Given the description of an element on the screen output the (x, y) to click on. 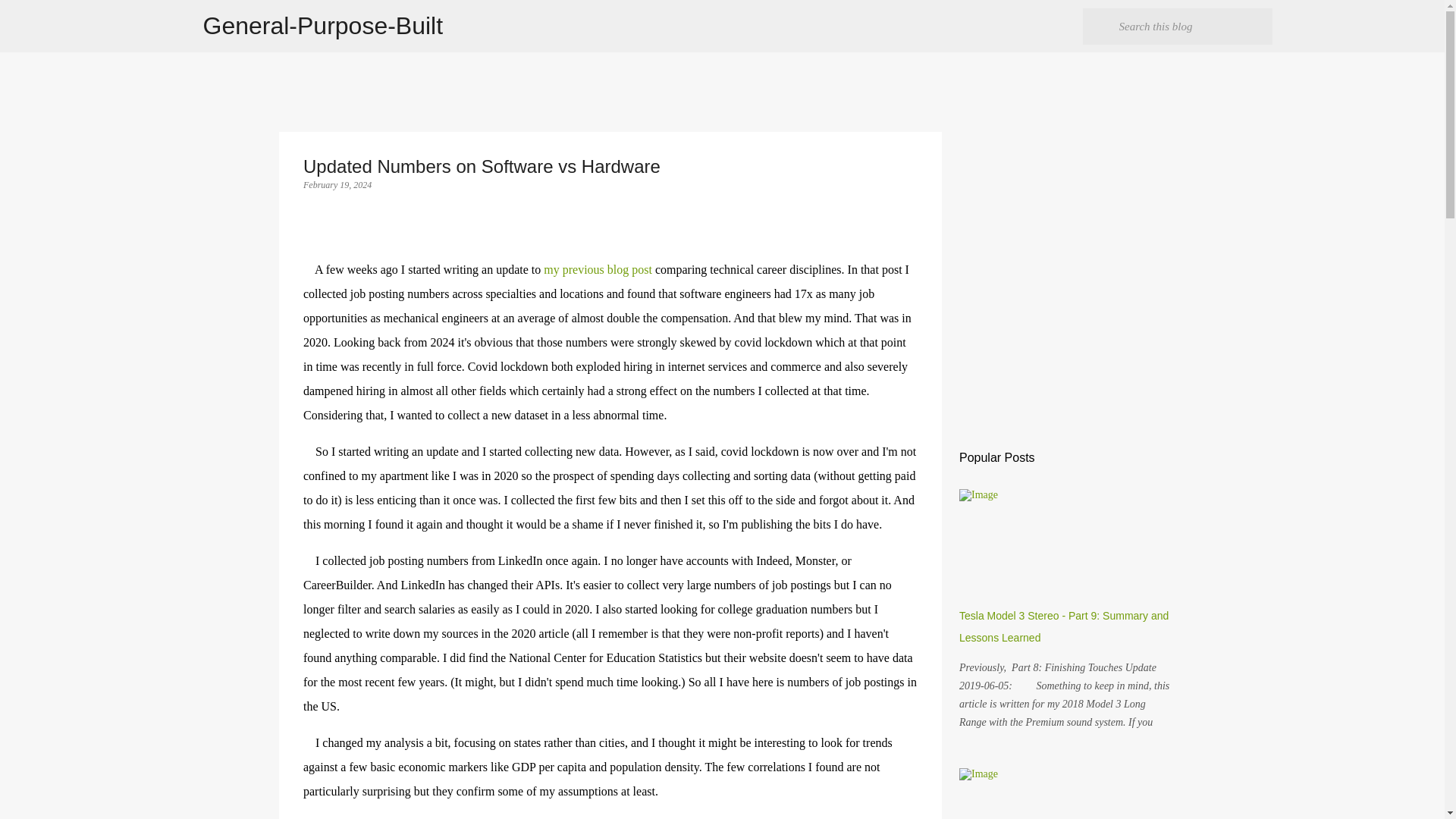
Tesla Model 3 Stereo - Part 9: Summary and Lessons Learned (1064, 626)
my previous blog post (597, 269)
permanent link (336, 184)
February 19, 2024 (336, 184)
General-Purpose-Built (323, 25)
